Given the description of an element on the screen output the (x, y) to click on. 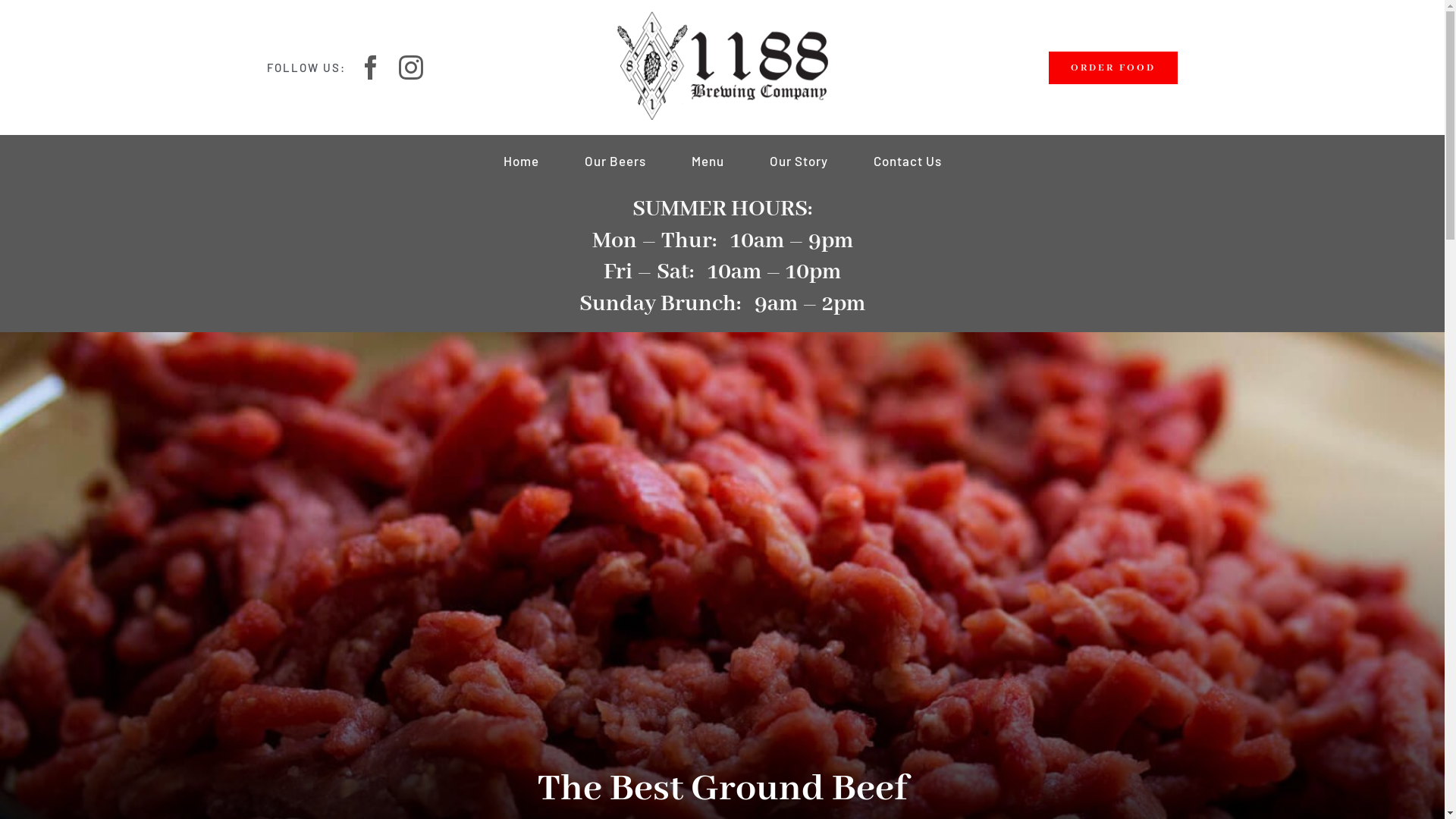
Menu Element type: text (707, 160)
Facebook Element type: hover (370, 67)
Contact Us Element type: text (907, 160)
Home Element type: text (521, 160)
Our Beers Element type: text (614, 160)
Our Story Element type: text (797, 160)
ORDER FOOD Element type: text (1112, 67)
Instagram Element type: hover (410, 67)
